Given the description of an element on the screen output the (x, y) to click on. 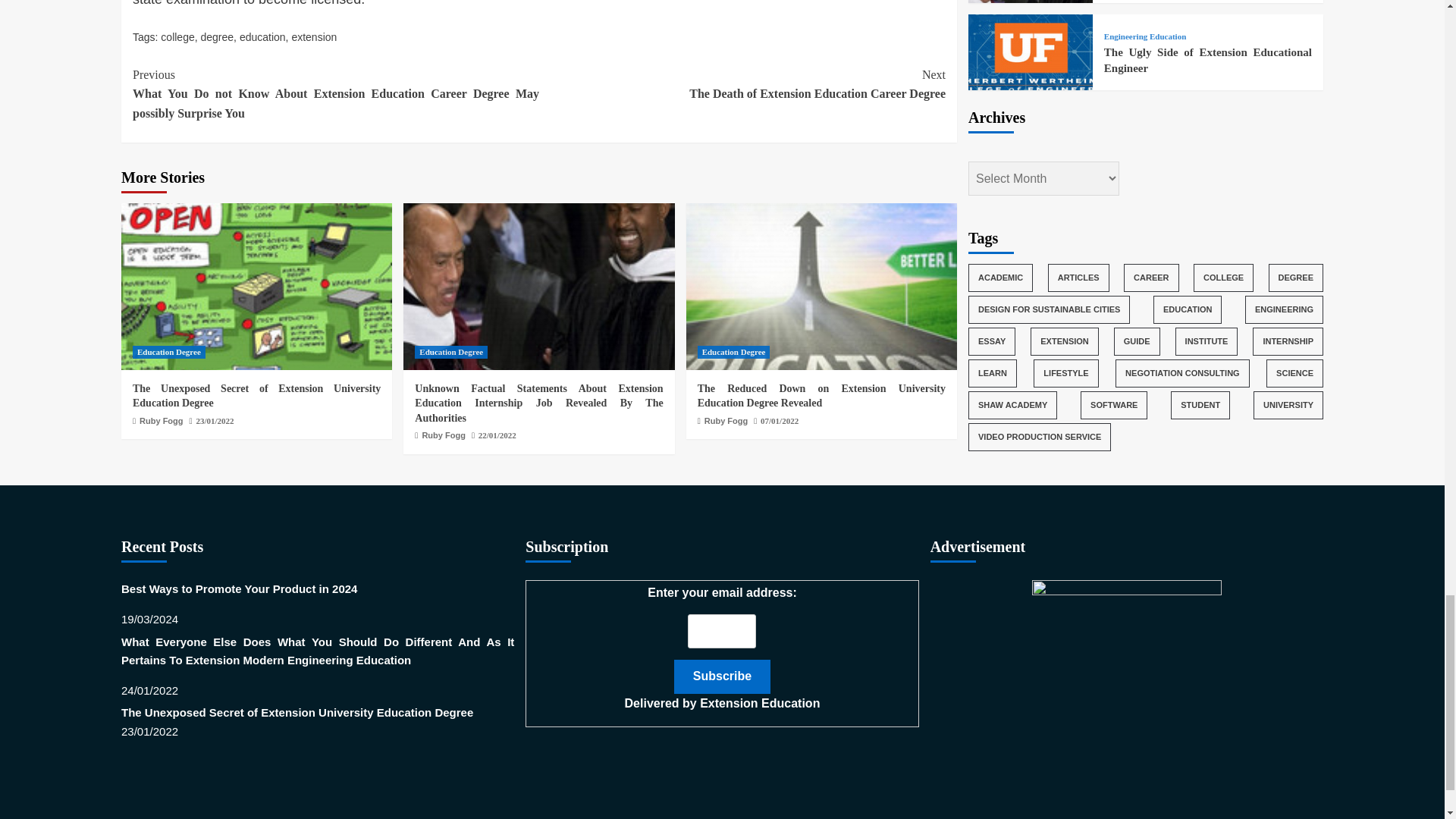
Subscribe (722, 676)
degree (741, 84)
Education Degree (217, 37)
college (450, 351)
Education Degree (176, 37)
education (168, 351)
Ruby Fogg (262, 37)
extension (161, 420)
